Given the description of an element on the screen output the (x, y) to click on. 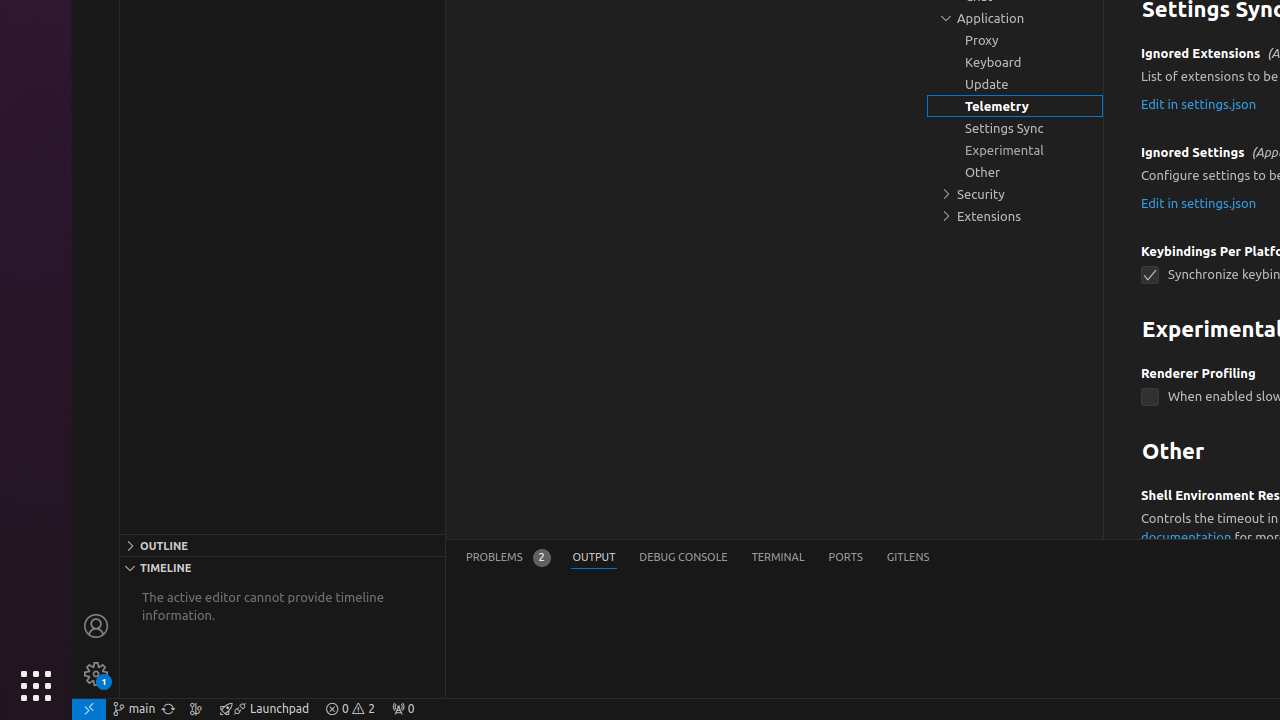
Proxy, group Element type: tree-item (1015, 40)
Manage - New Code update available. Element type: push-button (96, 674)
Ports Element type: page-tab (845, 557)
Application, group Element type: tree-item (1015, 18)
